Given the description of an element on the screen output the (x, y) to click on. 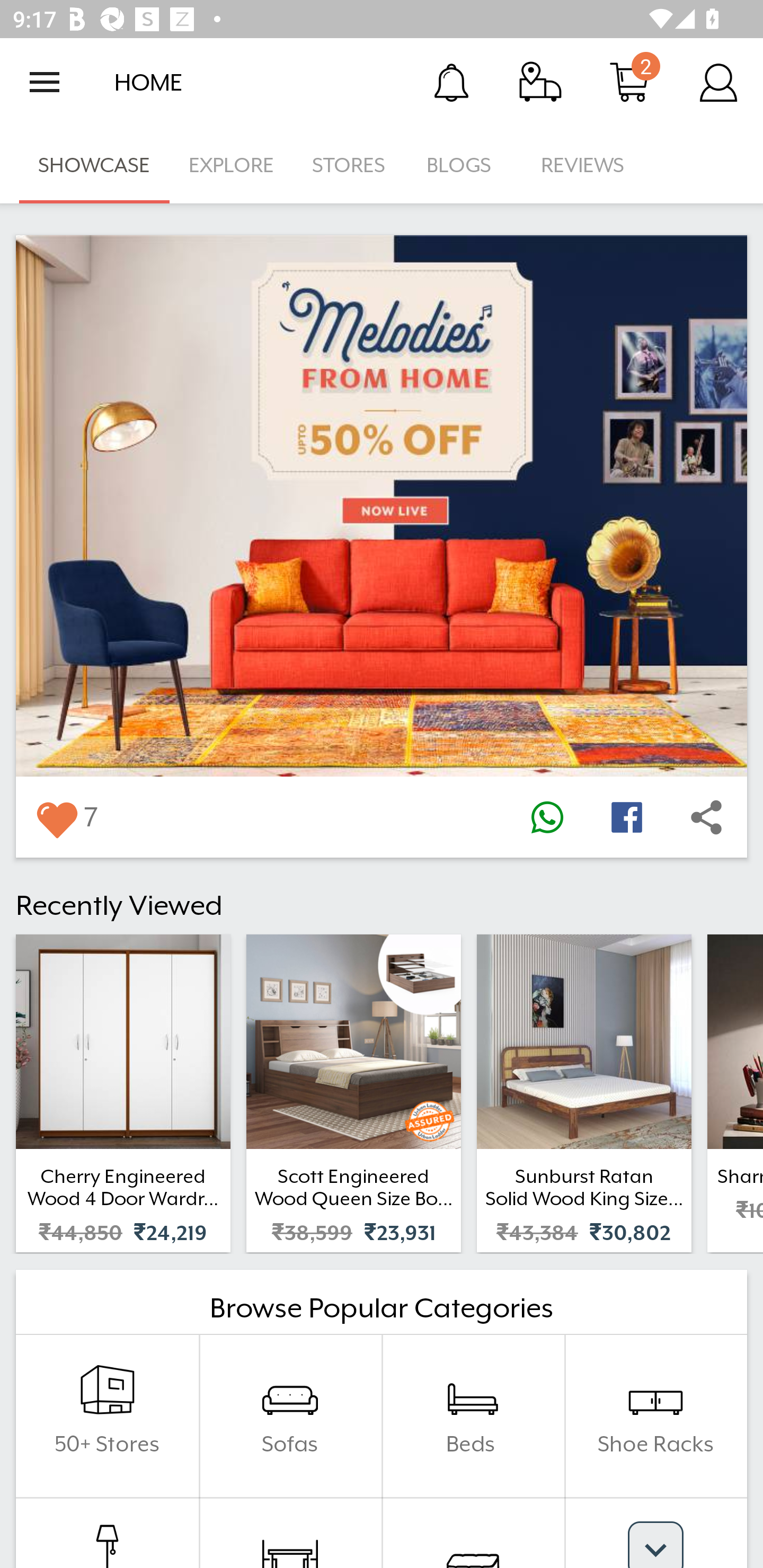
Open navigation drawer (44, 82)
Notification (450, 81)
Track Order (540, 81)
Cart (629, 81)
Account Details (718, 81)
SHOWCASE (94, 165)
EXPLORE (230, 165)
STORES (349, 165)
BLOGS (464, 165)
REVIEWS (582, 165)
 (55, 816)
 (547, 816)
 (626, 816)
 (706, 816)
50+ Stores (106, 1415)
Sofas (289, 1415)
Beds  (473, 1415)
Shoe Racks (655, 1415)
